Given the description of an element on the screen output the (x, y) to click on. 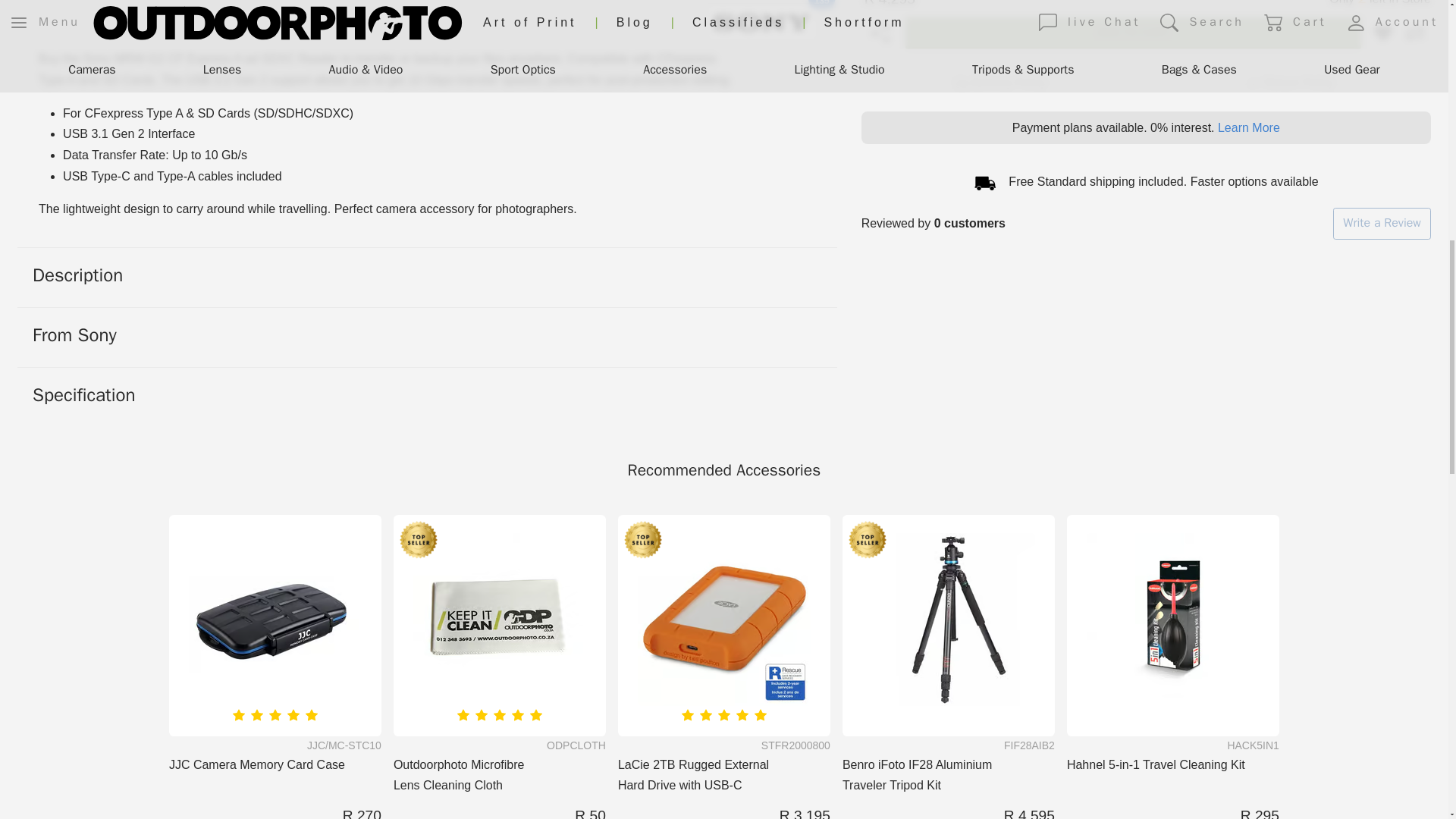
LaCie 2TB Rugged External Hard Drive with USB-C (723, 619)
Benro iFoto IF28 Aluminium Traveler Tripod Kit (948, 619)
Hahnel 5-in-1 Travel Cleaning Kit (1172, 619)
JJC Camera Memory Card Case (275, 619)
Outdoorphoto Microfibre Lens Cleaning Cloth (499, 619)
Share this page (880, 33)
